Given the description of an element on the screen output the (x, y) to click on. 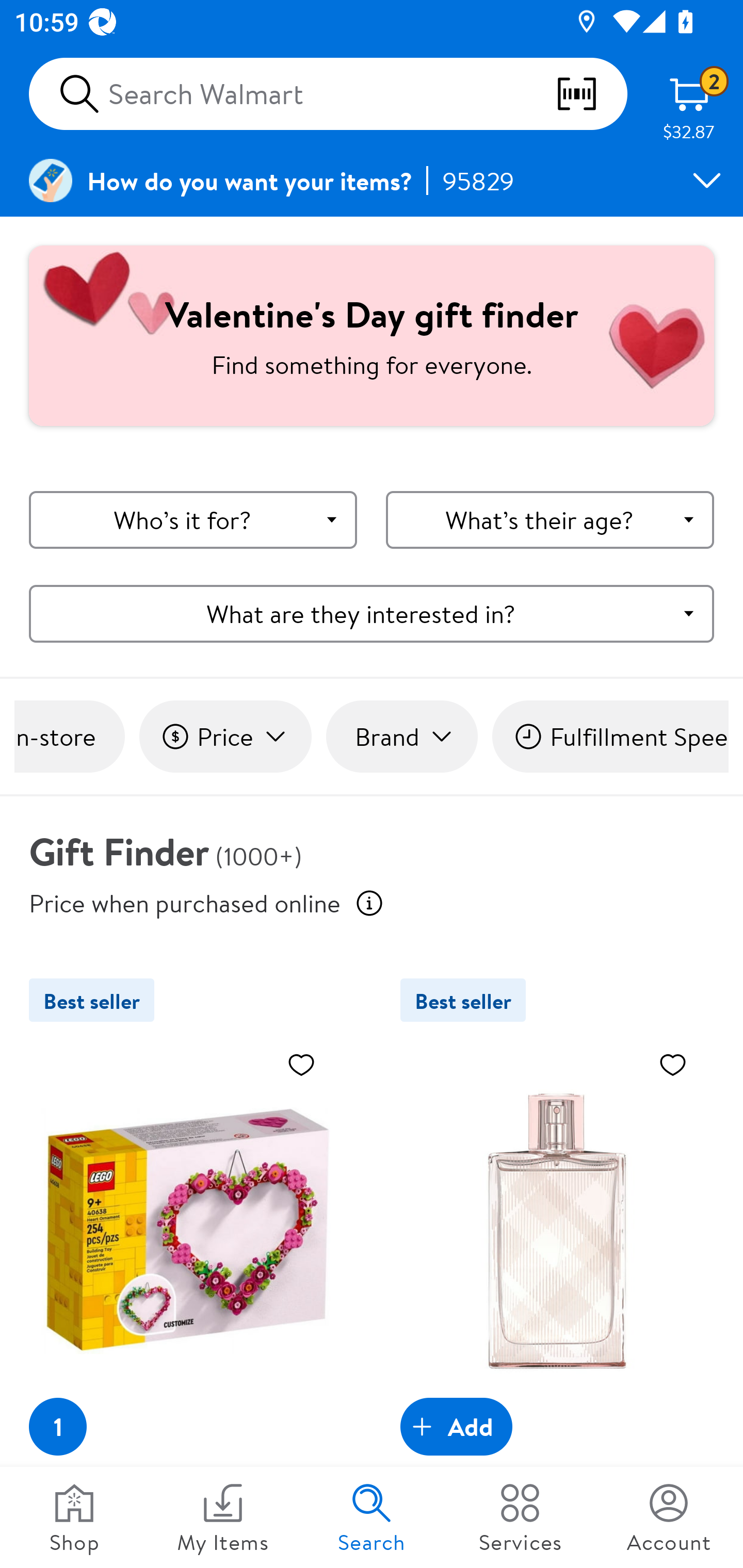
Search Walmart scan barcodes qr codes and more (327, 94)
scan barcodes qr codes and more (591, 94)
Who’s it for? (192, 520)
What’s their age? (549, 520)
What are they interested in? (371, 613)
Filter by In-store, not applied,  In-store (69, 736)
Filter by Brand, not applied,  Brand Select icon (401, 736)
Price when purchased online (184, 902)
Price when purchased online (369, 903)
Shop (74, 1517)
My Items (222, 1517)
Services (519, 1517)
Account (668, 1517)
